Given the description of an element on the screen output the (x, y) to click on. 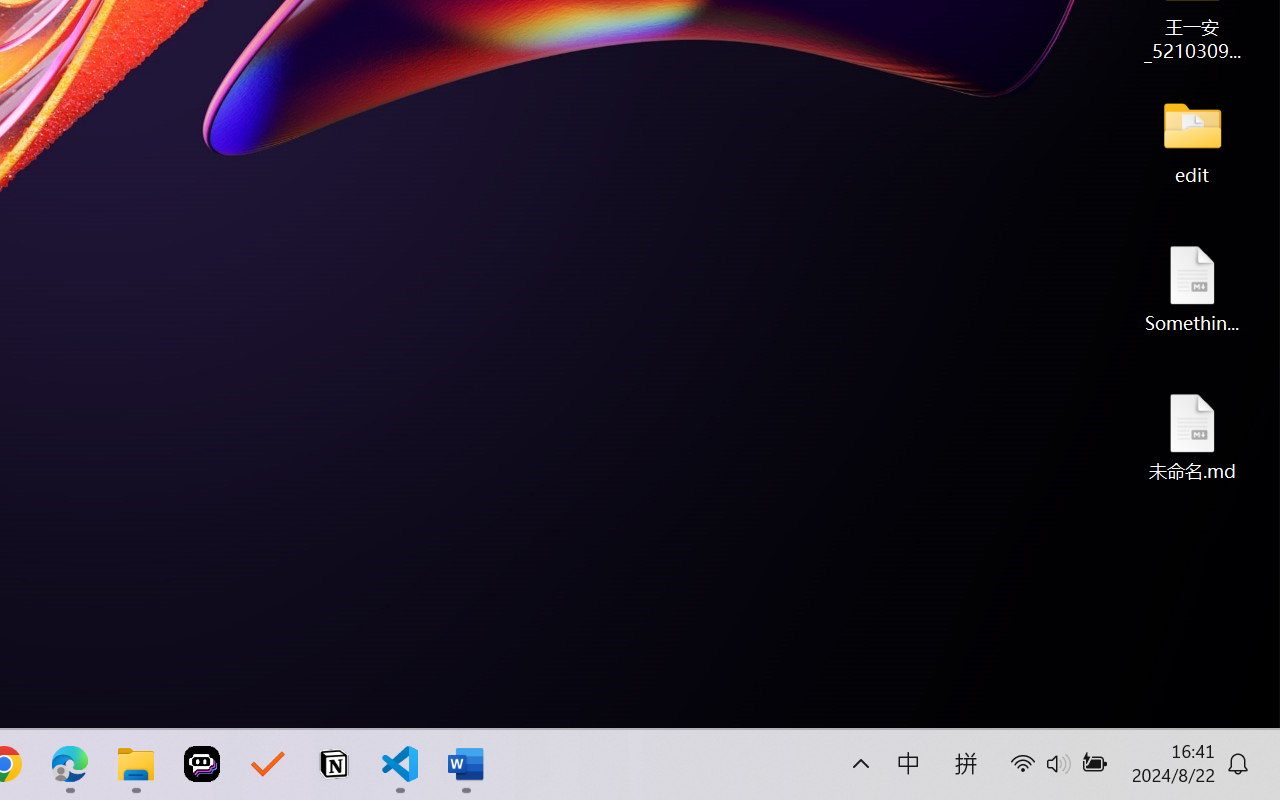
Notion (333, 764)
Poe (201, 764)
